Given the description of an element on the screen output the (x, y) to click on. 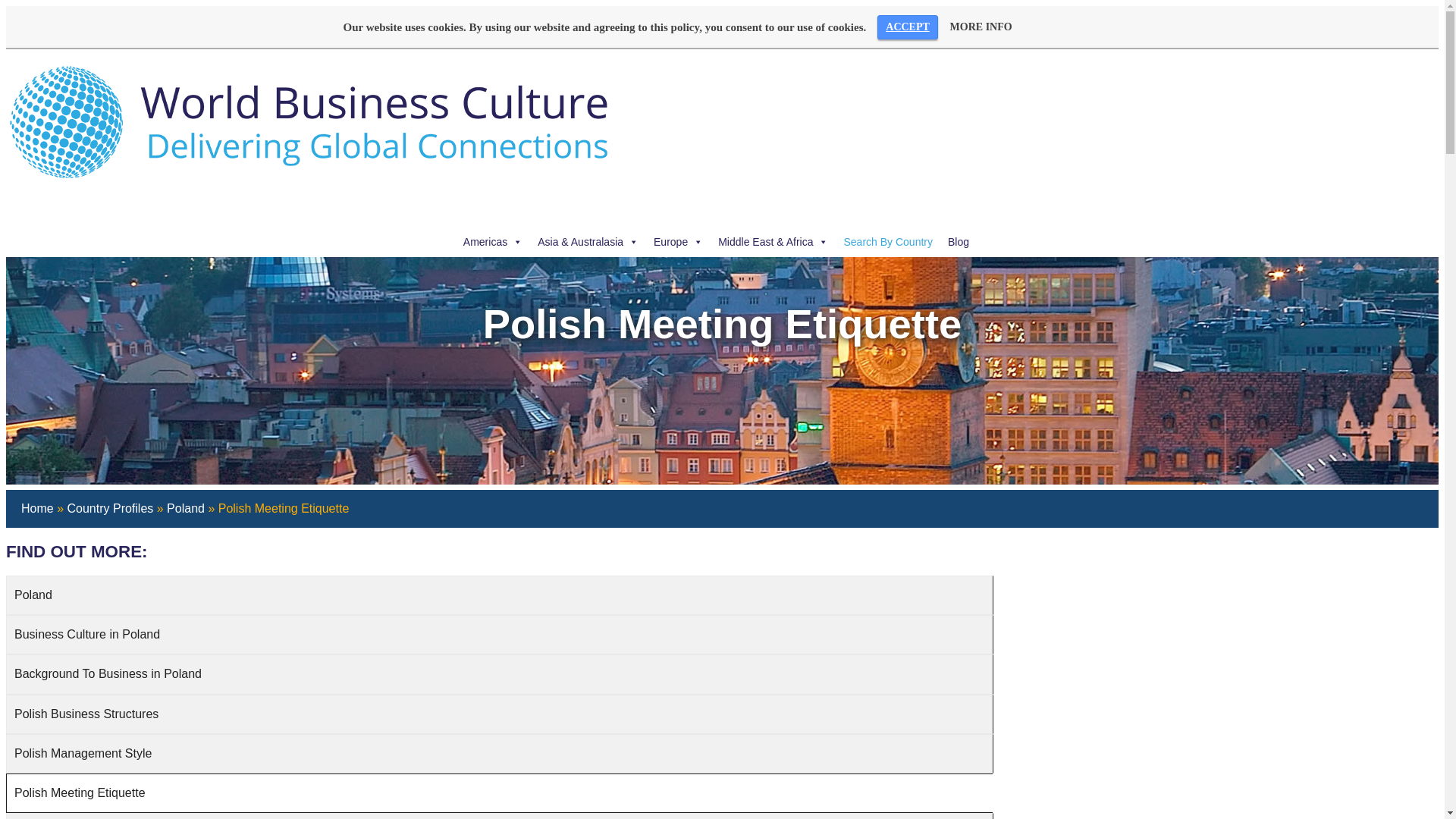
ACCEPT (907, 27)
Europe (678, 241)
MORE INFO (980, 27)
Americas (492, 241)
